Given the description of an element on the screen output the (x, y) to click on. 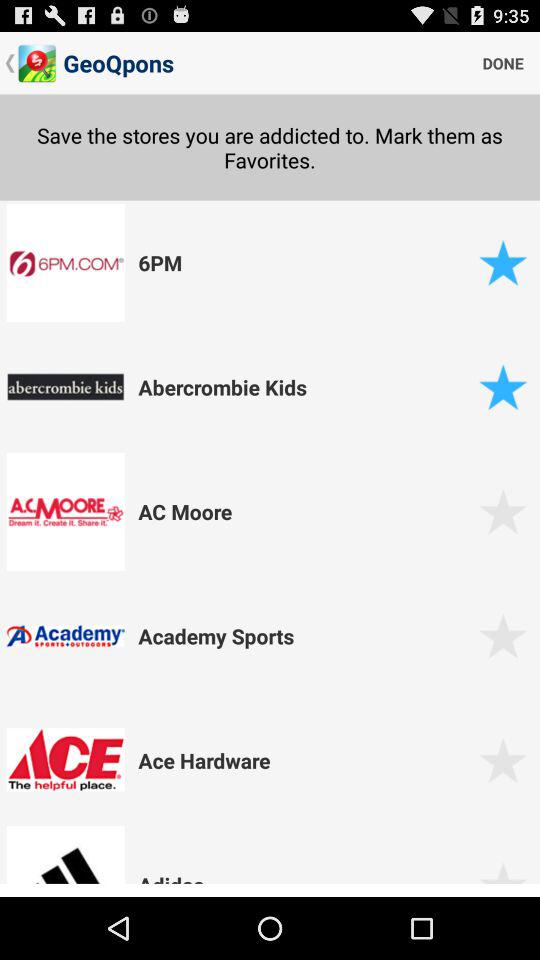
clcik to unfavorite site (502, 386)
